Given the description of an element on the screen output the (x, y) to click on. 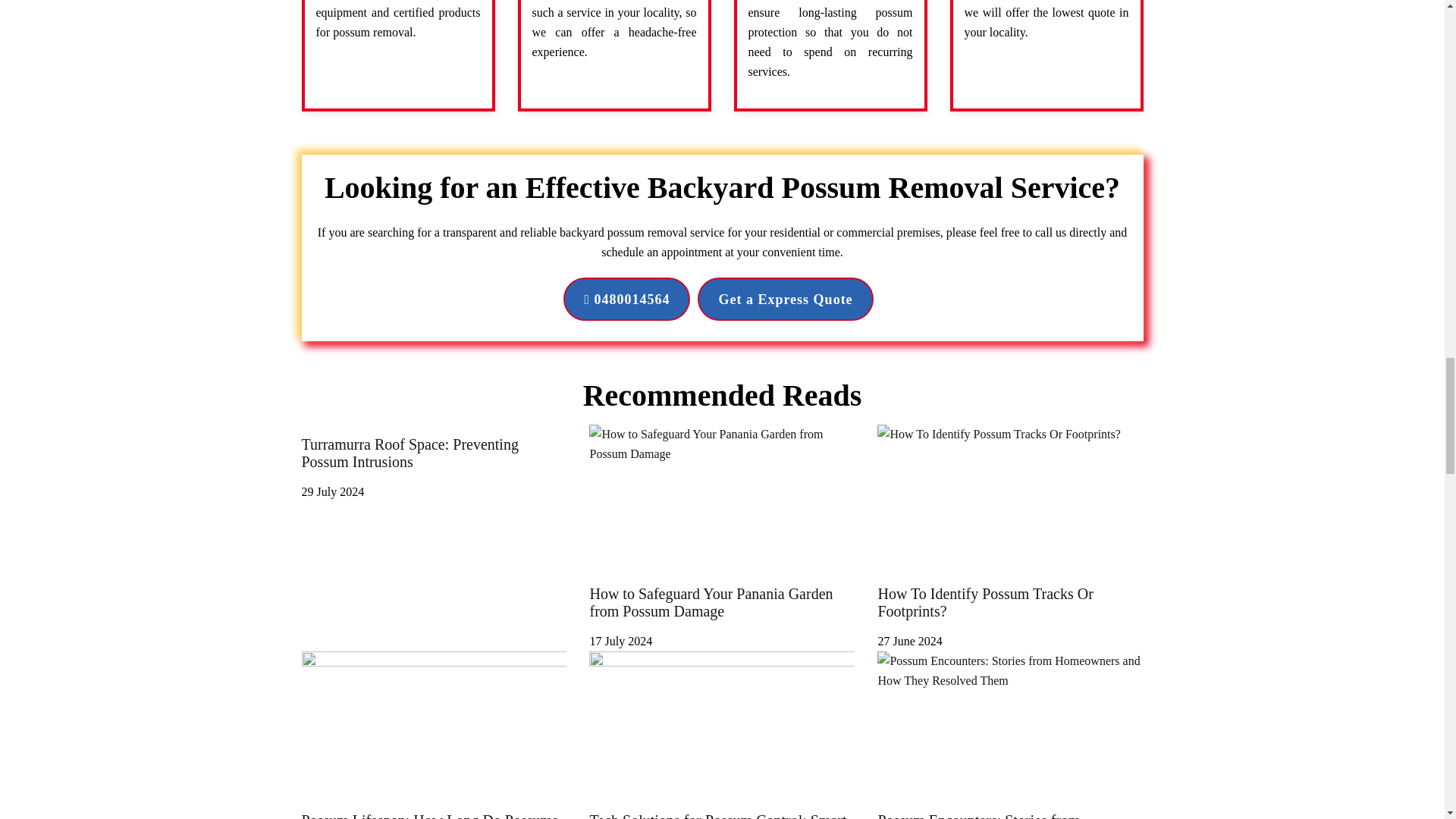
Get a Express Quote (784, 299)
How To Identify Possum Tracks Or Footprints? (1009, 610)
Possum Lifespan: How Long Do Possums Live? (434, 809)
Turramurra Roof Space: Preventing Possum Intrusions (434, 461)
0480014564 (626, 299)
How to Safeguard Your Panania Garden from Possum Damage (721, 610)
